Given the description of an element on the screen output the (x, y) to click on. 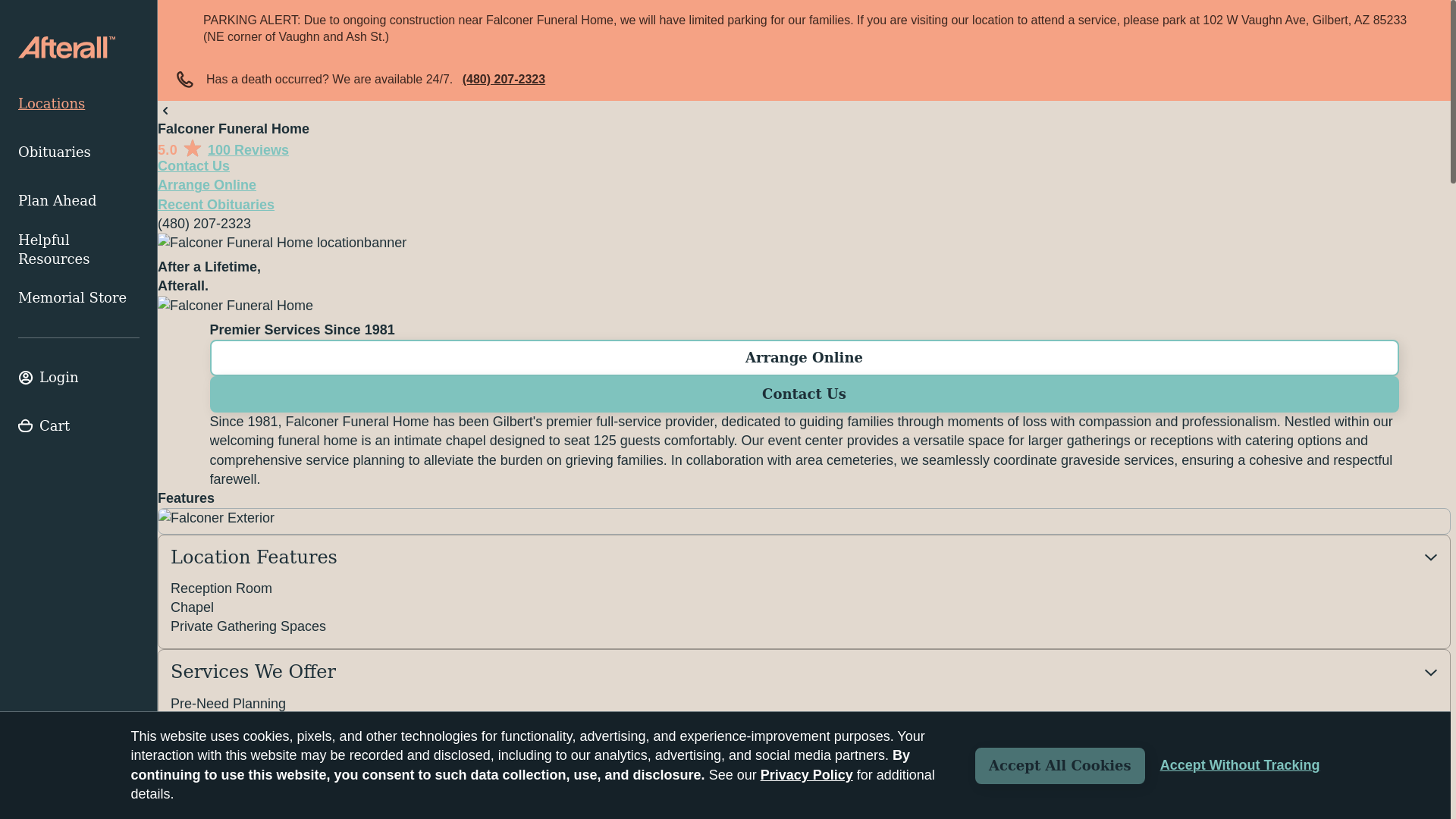
Memorial Store (78, 297)
Accept All Cookies (1059, 765)
Helpful Resources (78, 249)
100 Reviews (248, 150)
Contact Us (193, 165)
Login (78, 377)
Location Features (804, 557)
Home page (66, 47)
Plan Ahead (78, 200)
View your cart (78, 426)
Contact Us (803, 393)
Accept Without Tracking (1240, 765)
Sign In (78, 377)
Arrange Online (206, 184)
Services We Offer (804, 671)
